Given the description of an element on the screen output the (x, y) to click on. 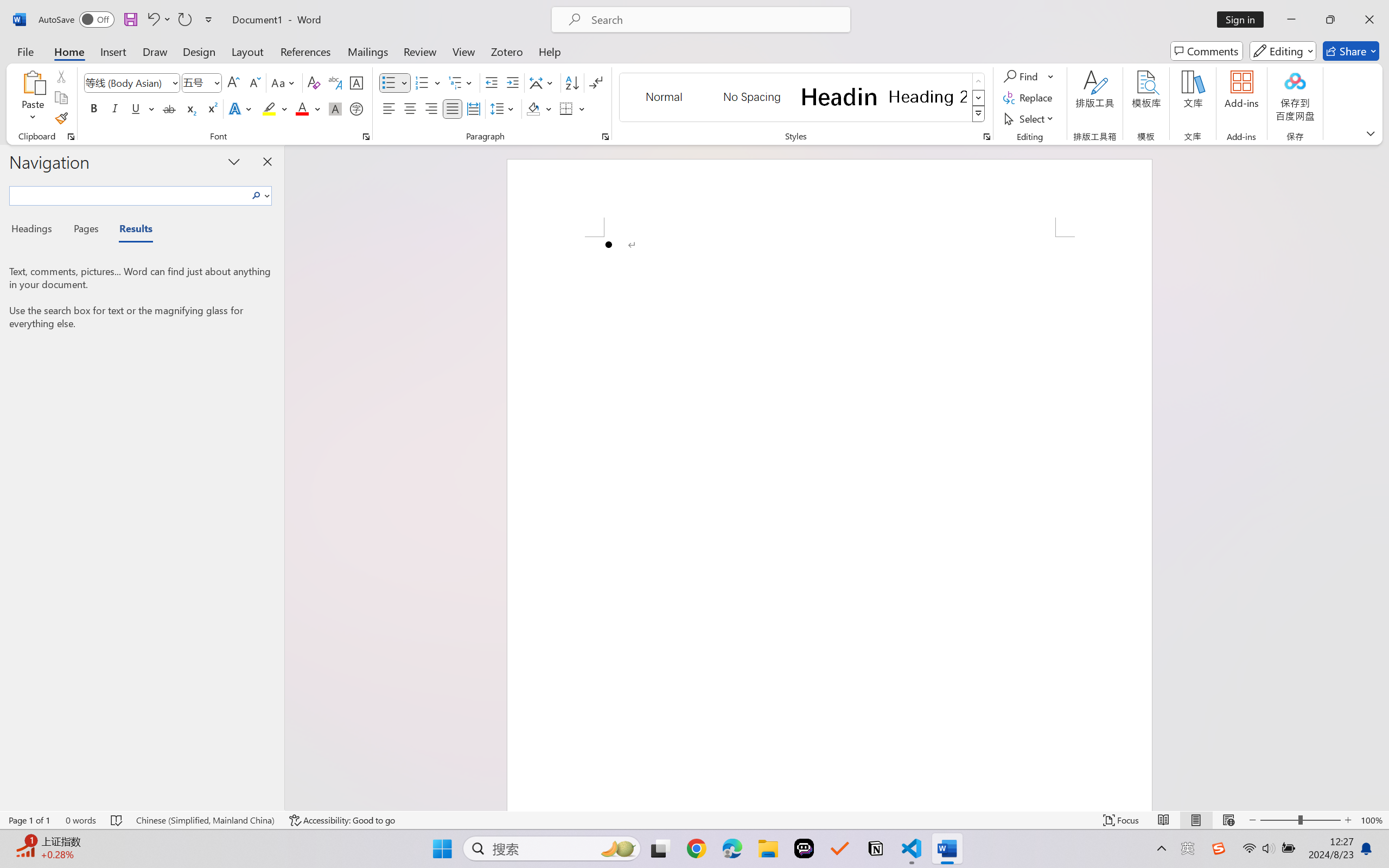
Pages (85, 229)
